Given the description of an element on the screen output the (x, y) to click on. 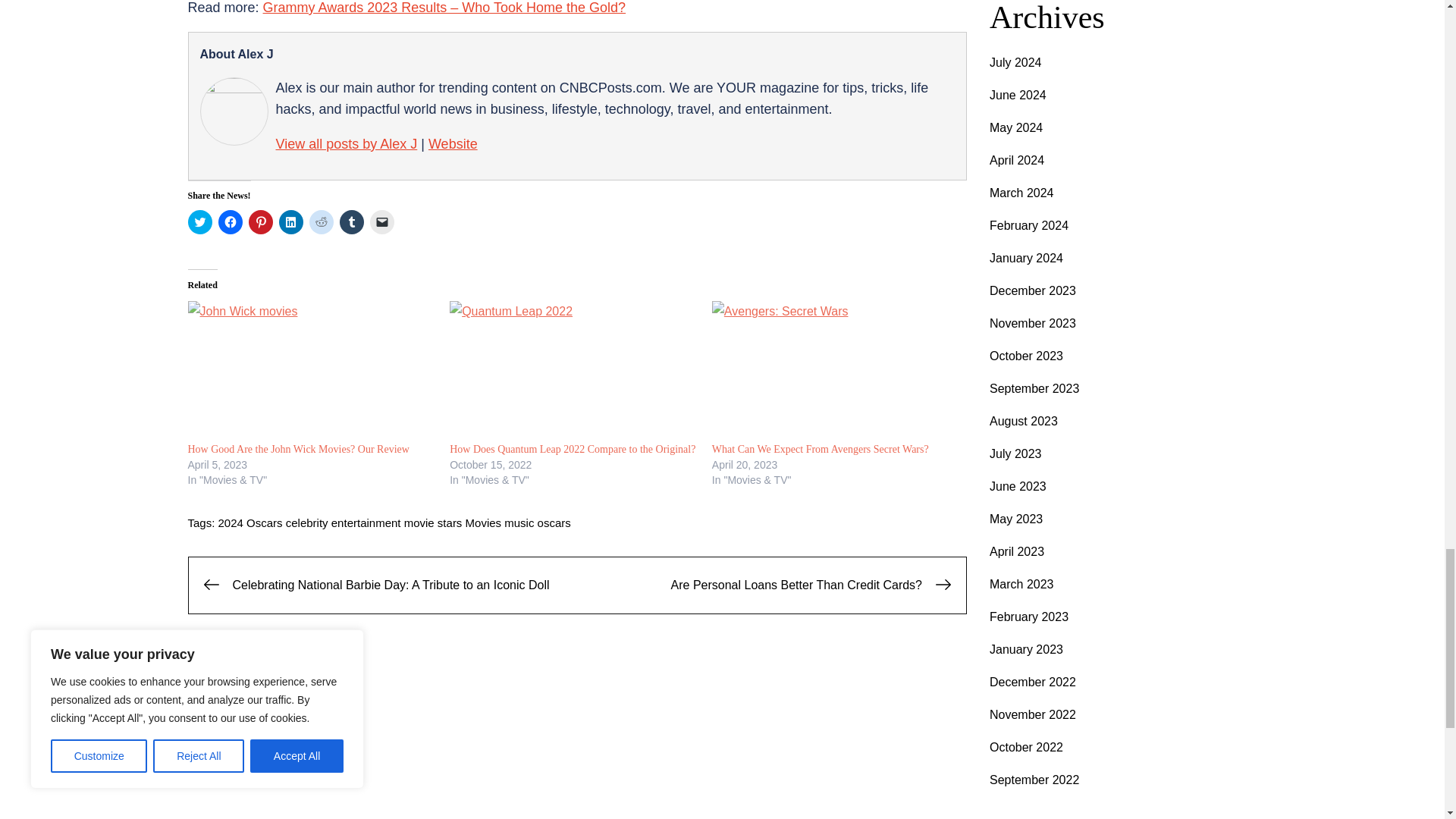
Click to share on LinkedIn (290, 221)
Click to share on Twitter (199, 221)
Click to share on Pinterest (260, 221)
Click to share on Reddit (320, 221)
Click to share on Facebook (230, 221)
Click to share on Tumblr (351, 221)
Click to email a link to a friend (381, 221)
